Given the description of an element on the screen output the (x, y) to click on. 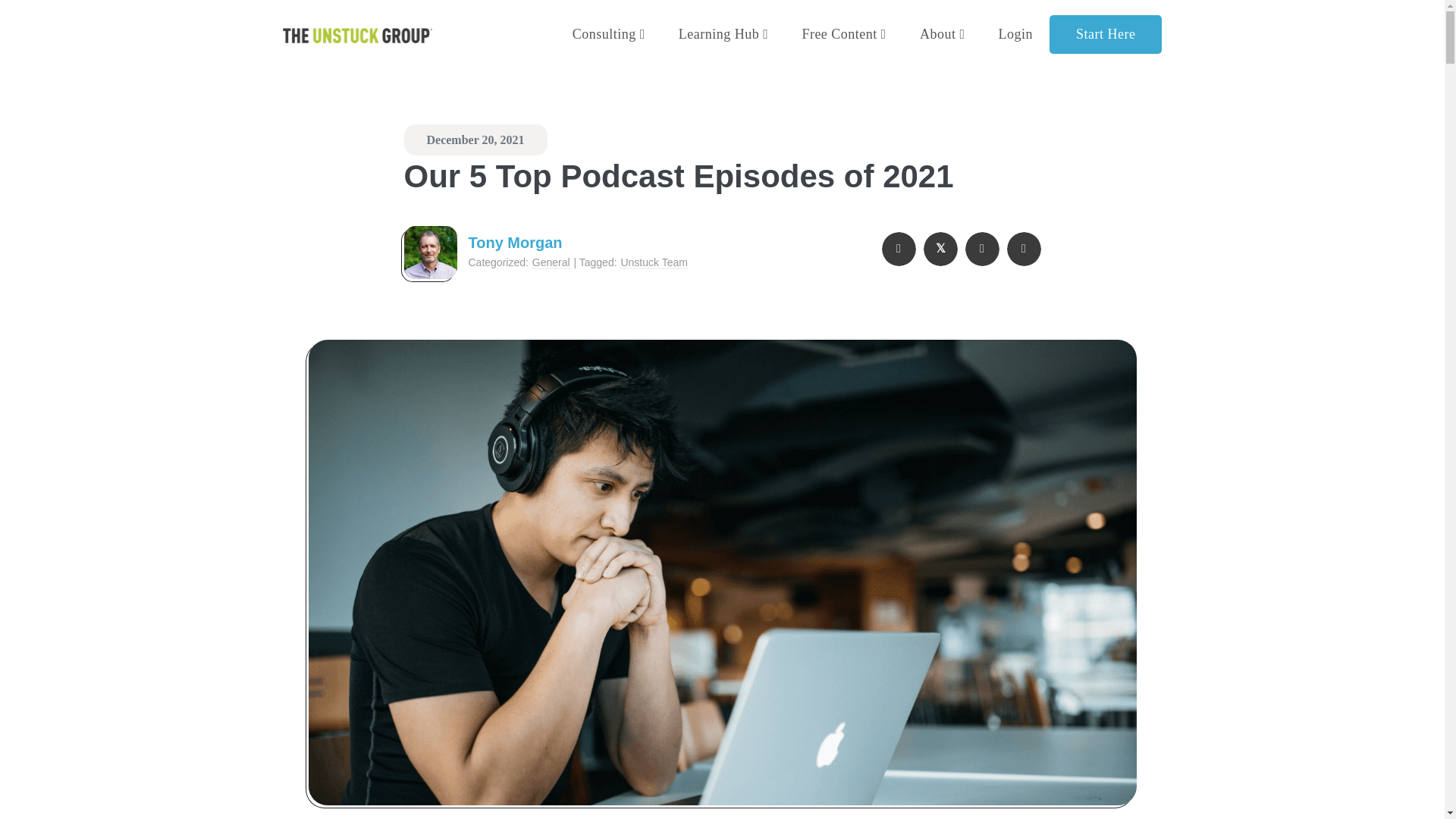
Learning Hub (724, 34)
About (941, 34)
Free Content (843, 34)
Consulting (609, 34)
Login (1015, 34)
The Unstuck Group (356, 34)
Start Here (1105, 34)
